Given the description of an element on the screen output the (x, y) to click on. 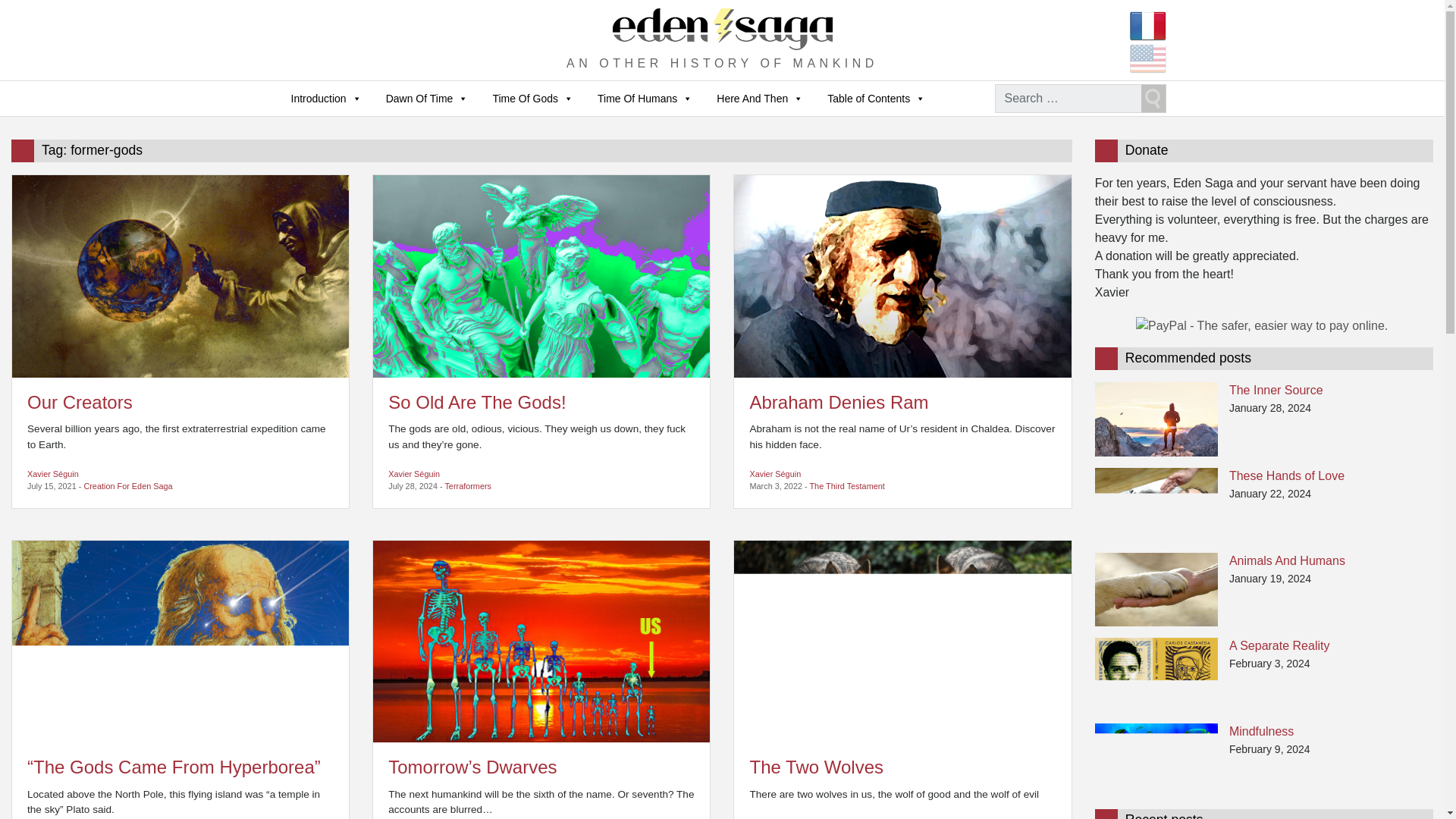
A Separate Reality (1155, 673)
The Inner Source (1155, 418)
Time Of Gods (532, 98)
Our Creators (180, 275)
Animals And Humans (1155, 588)
Introduction (326, 98)
The Two Wolves (901, 640)
Dawn Of Time (427, 98)
So Old Are The Gods! (541, 275)
Abraham Denies Ram (901, 275)
